Given the description of an element on the screen output the (x, y) to click on. 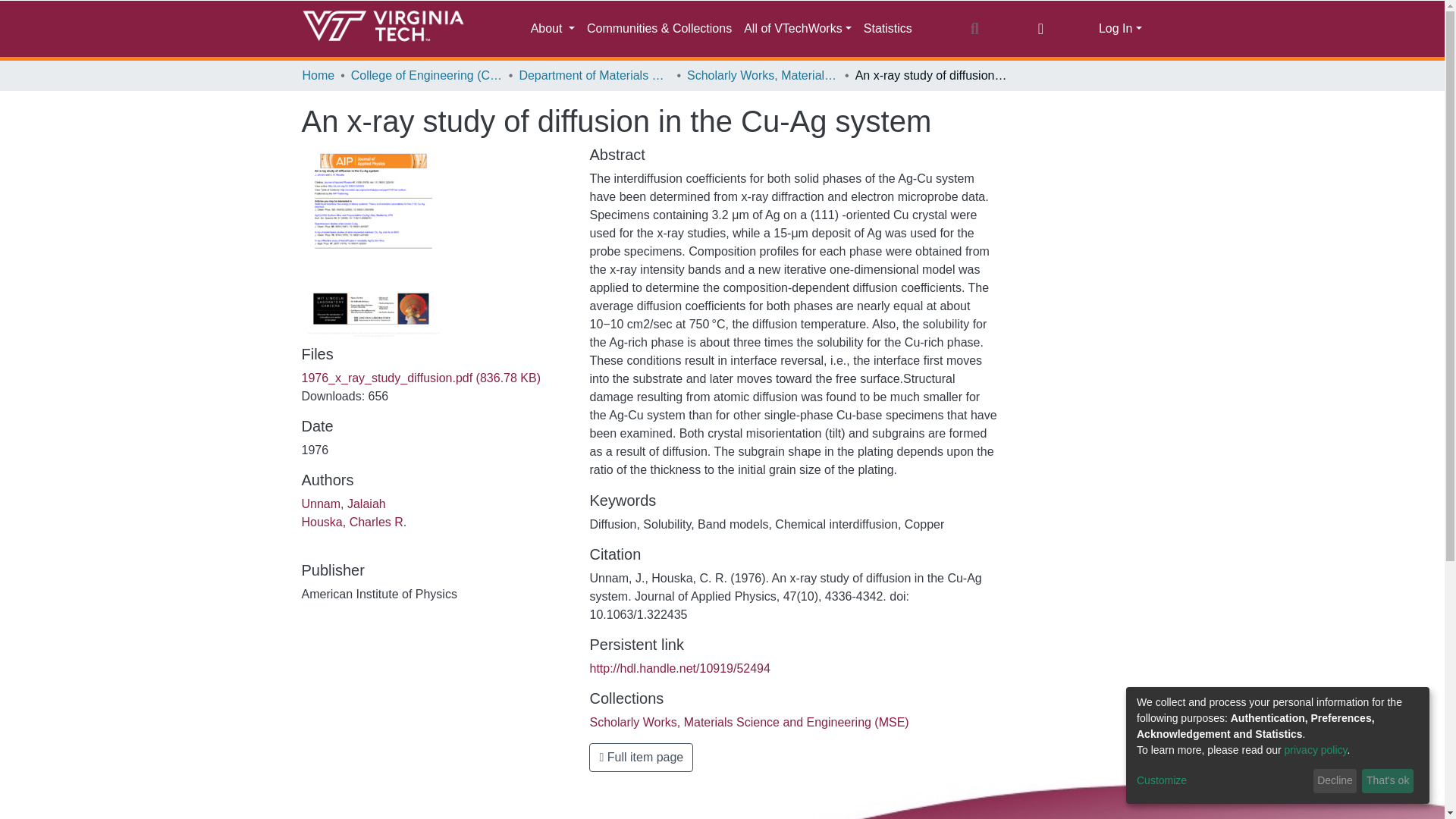
All of VTechWorks (797, 28)
Language switch (1039, 28)
Statistics (887, 28)
Search (974, 28)
Houska, Charles R. (354, 521)
Home (317, 75)
Unnam, Jalaiah (343, 503)
Log In (1119, 28)
About (552, 28)
Full item page (641, 757)
